Given the description of an element on the screen output the (x, y) to click on. 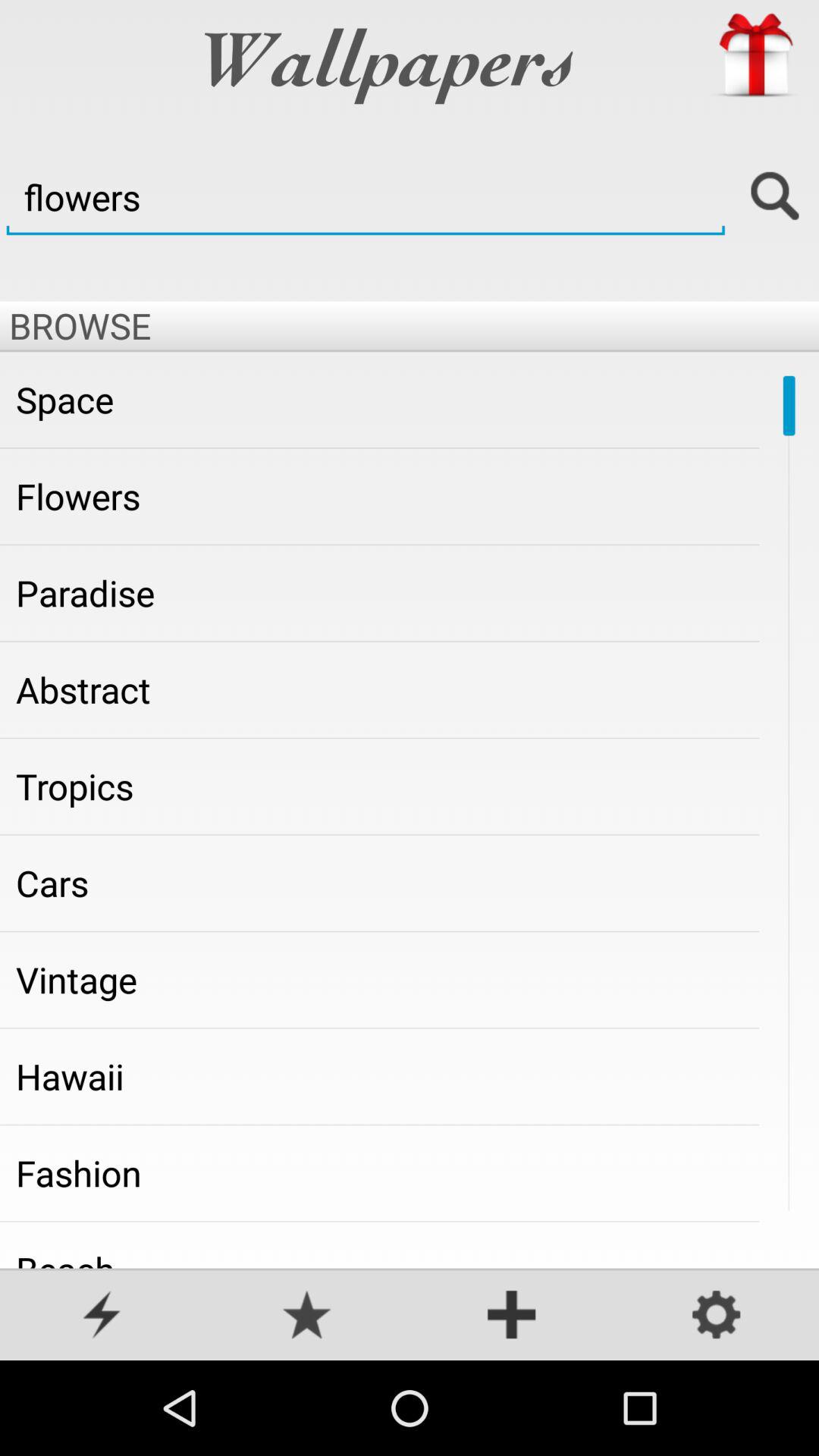
search for wallpapers (775, 197)
